Given the description of an element on the screen output the (x, y) to click on. 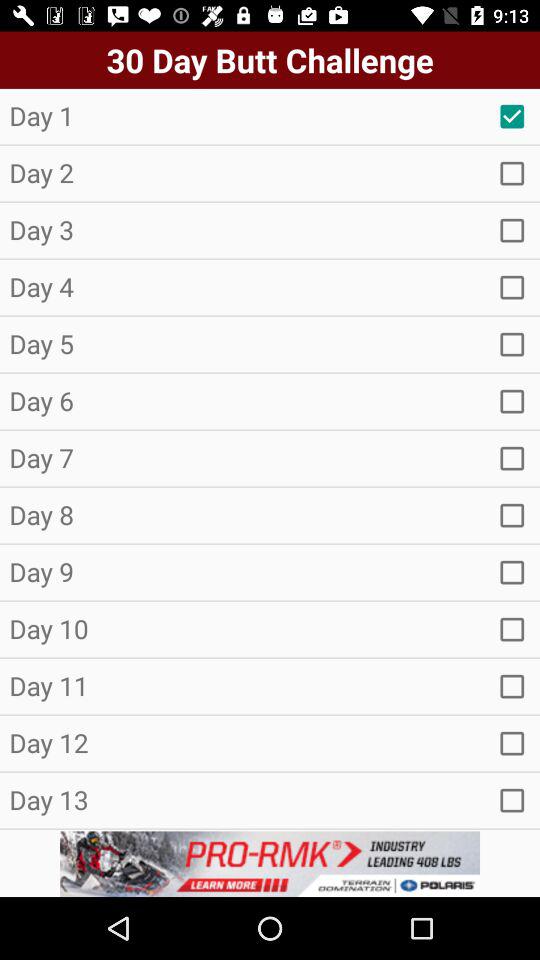
checkbox to select day 13 (512, 800)
